Given the description of an element on the screen output the (x, y) to click on. 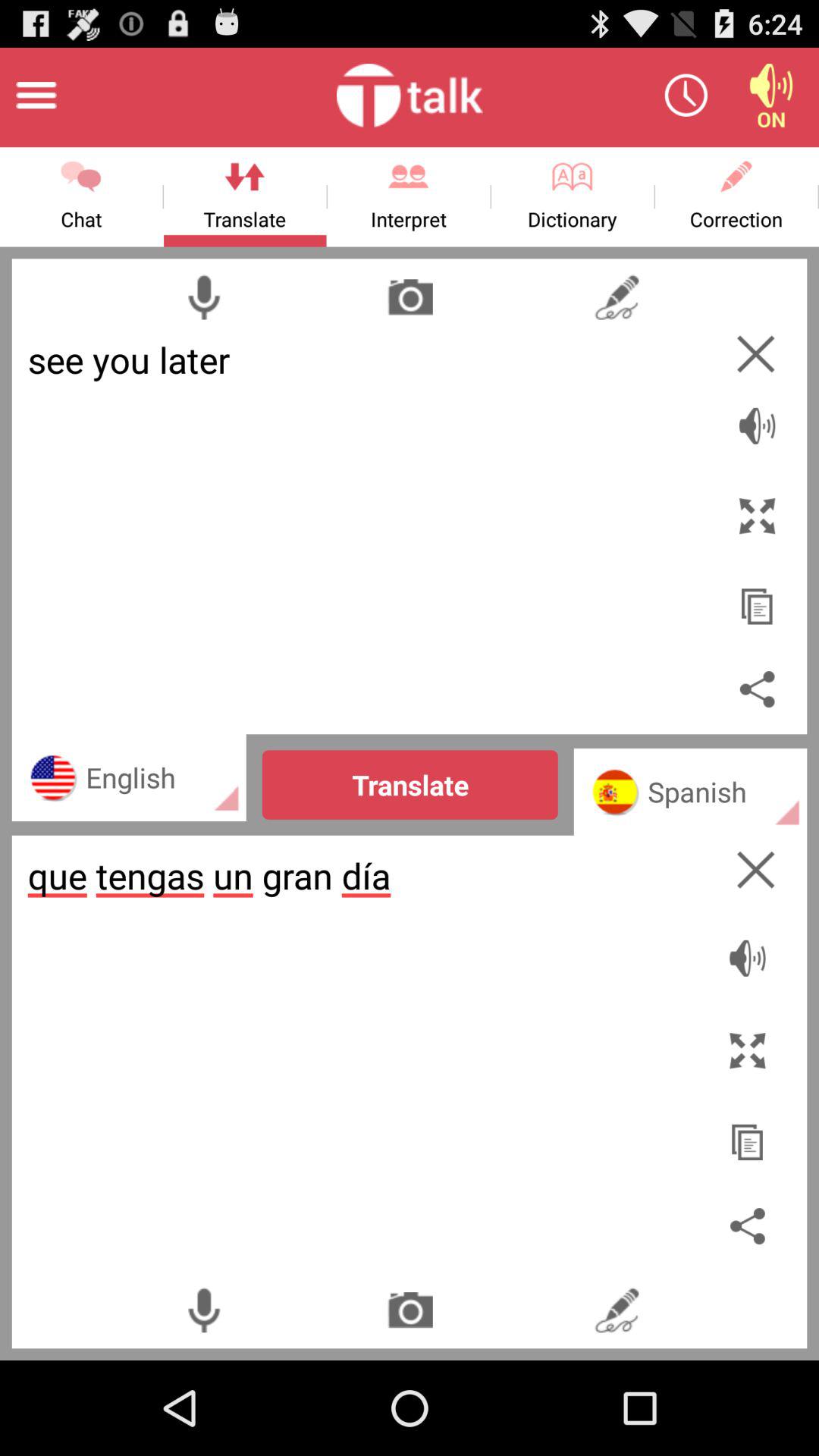
listen to translation (750, 950)
